Given the description of an element on the screen output the (x, y) to click on. 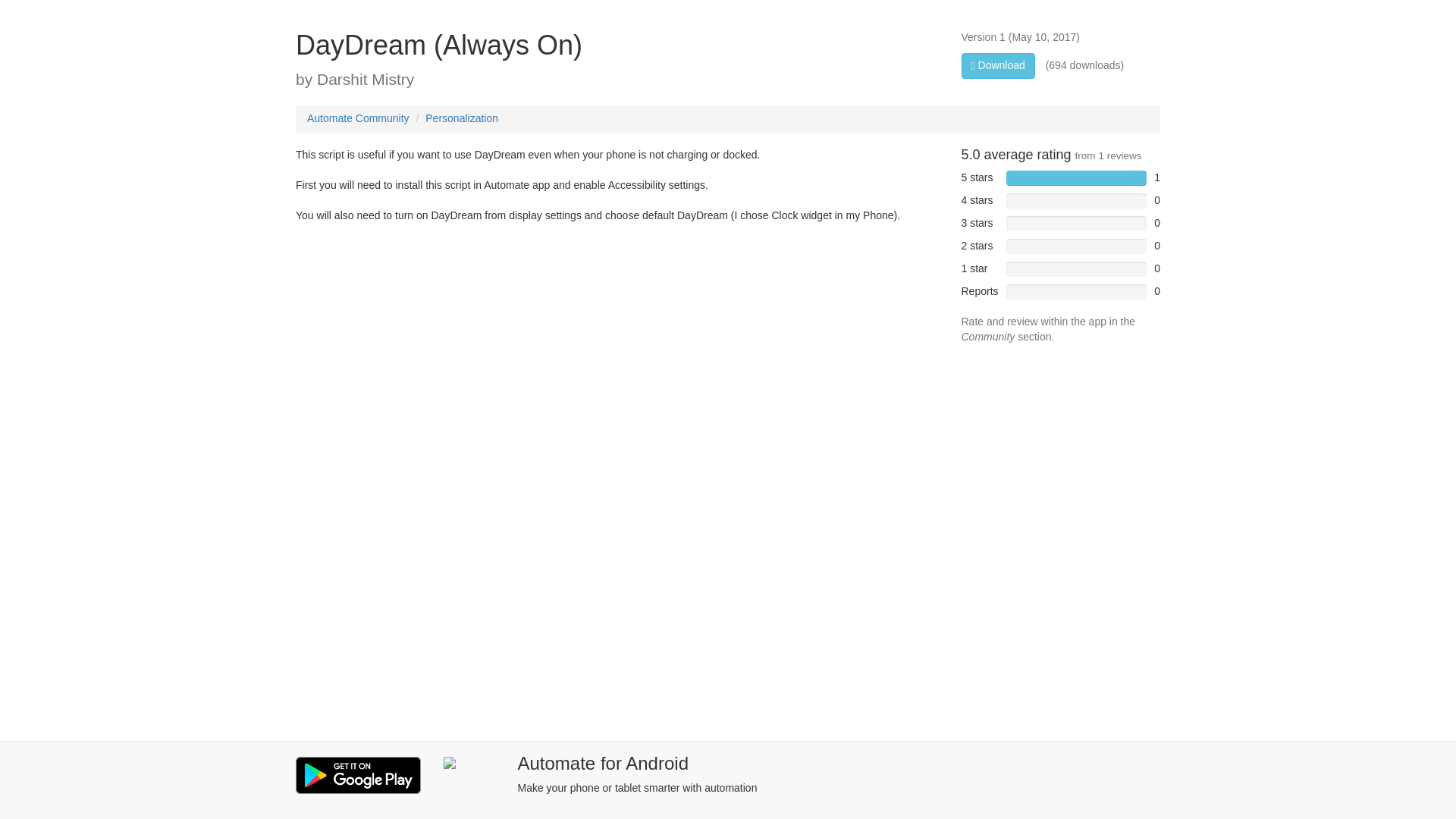
Automate Community (358, 118)
Personalization (461, 118)
Download (997, 65)
